Given the description of an element on the screen output the (x, y) to click on. 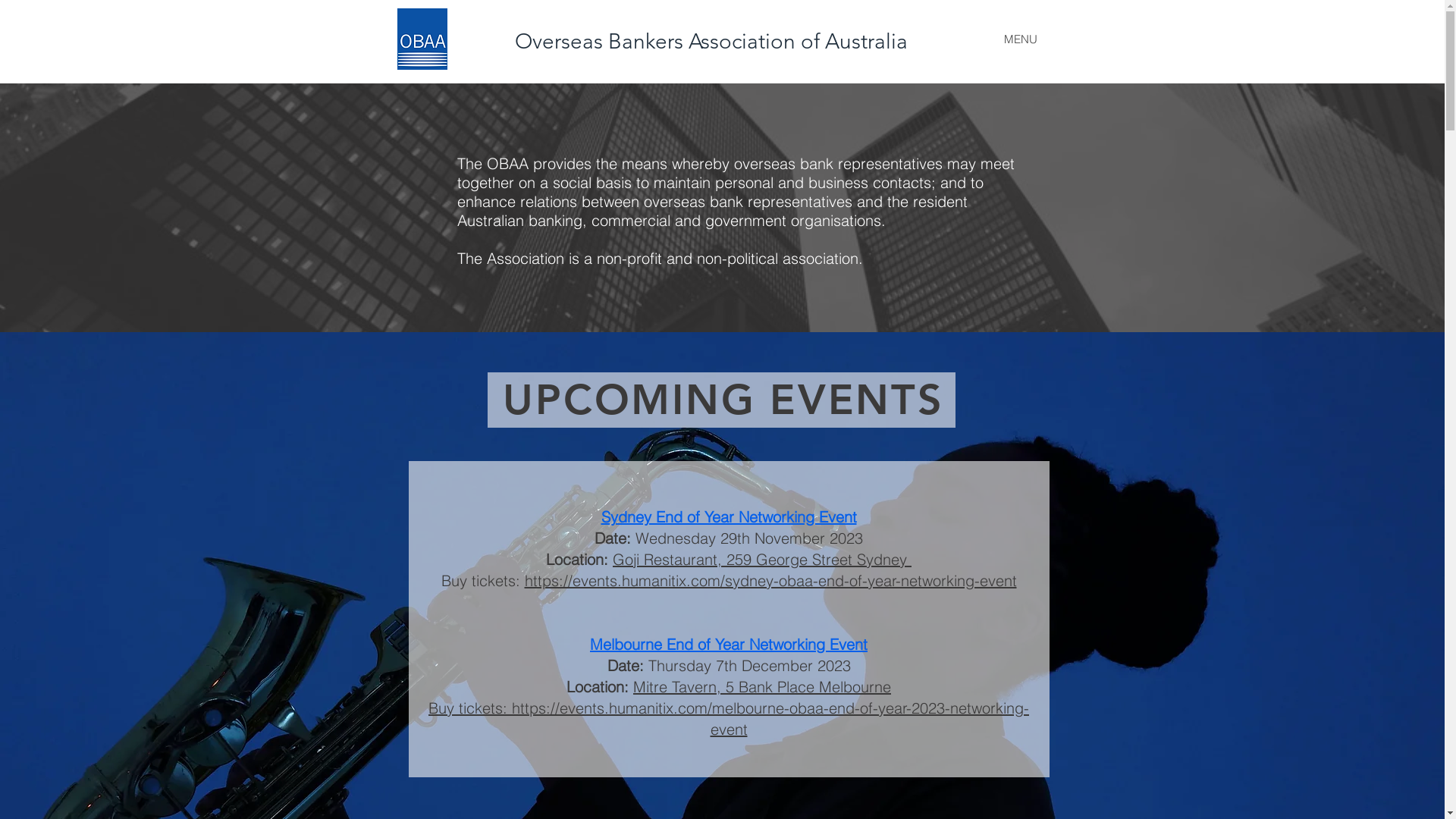
Goji Restaurant, 259 George Street Sydney  Element type: text (761, 558)
Mitre Tavern, 5 Bank Place Melbourne Element type: text (762, 686)
